Given the description of an element on the screen output the (x, y) to click on. 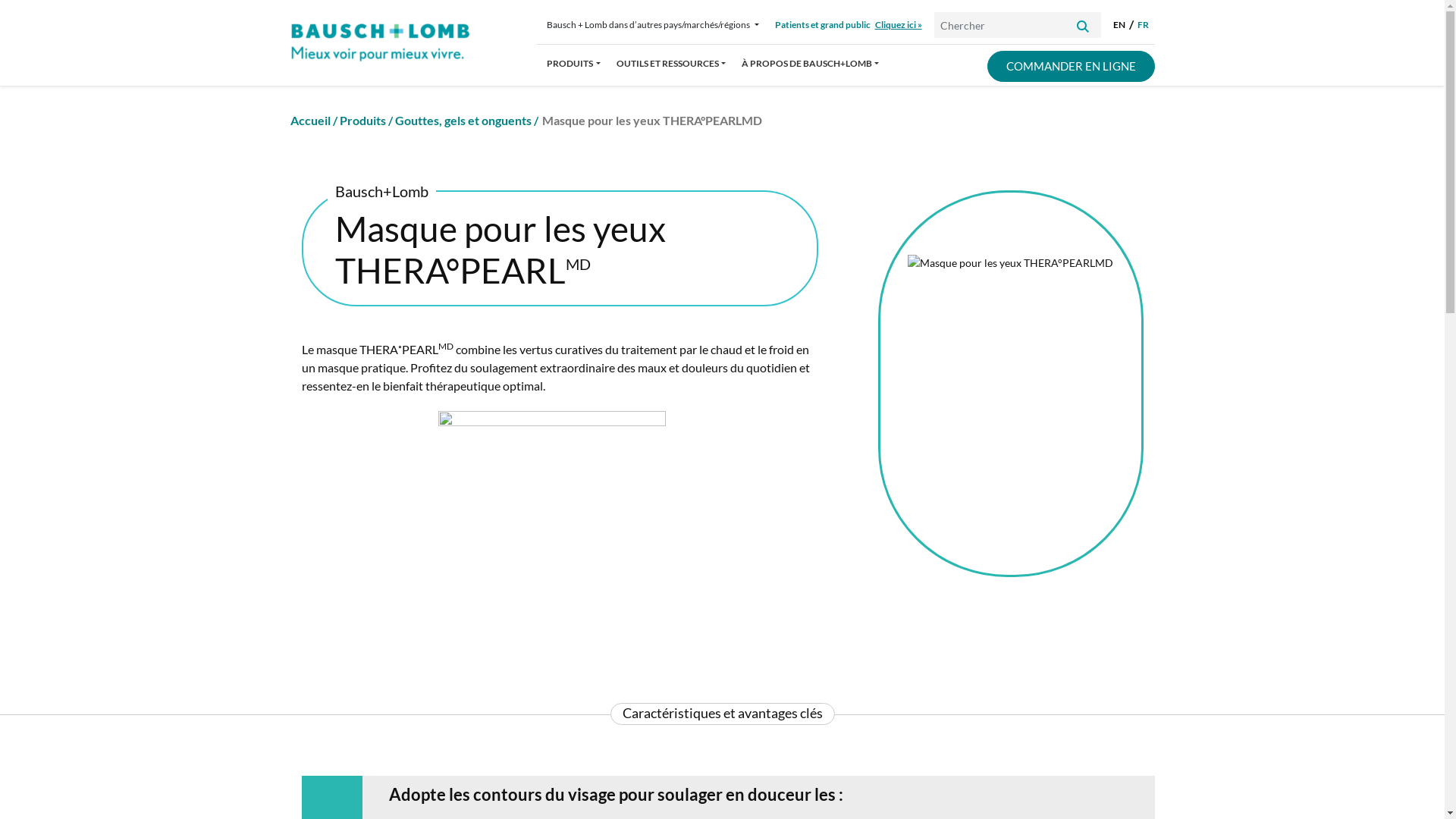
PRODUITS Element type: text (572, 67)
COMMANDER EN LIGNE Element type: text (1070, 65)
Produits Element type: text (362, 119)
search Element type: text (1082, 24)
Gouttes, gels et onguents Element type: text (462, 119)
EN Element type: text (1119, 24)
OUTILS ET RESSOURCES Element type: text (670, 67)
Accueil Element type: text (309, 119)
FR Element type: text (1142, 24)
